Given the description of an element on the screen output the (x, y) to click on. 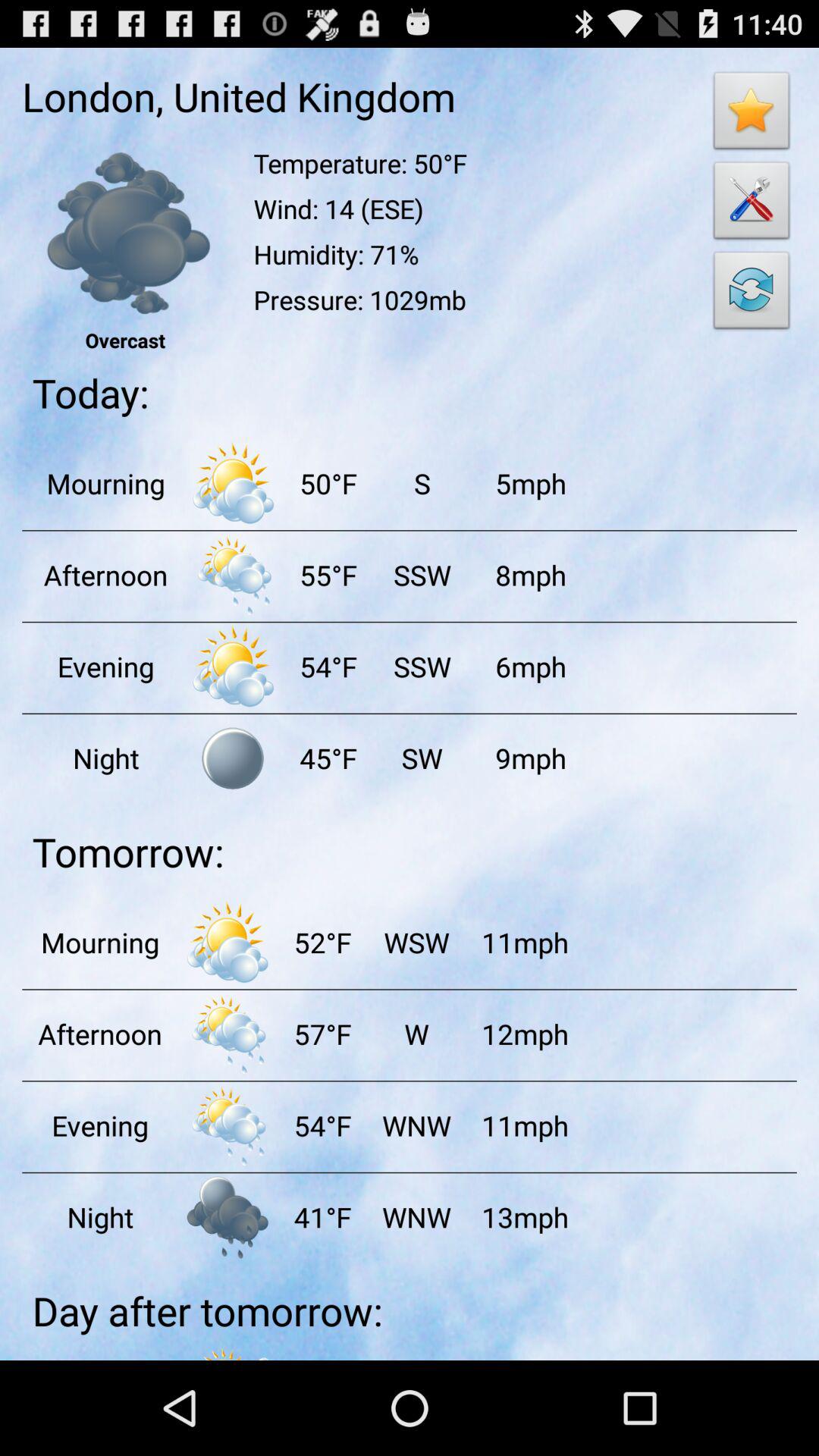
flip to w app (416, 1033)
